Given the description of an element on the screen output the (x, y) to click on. 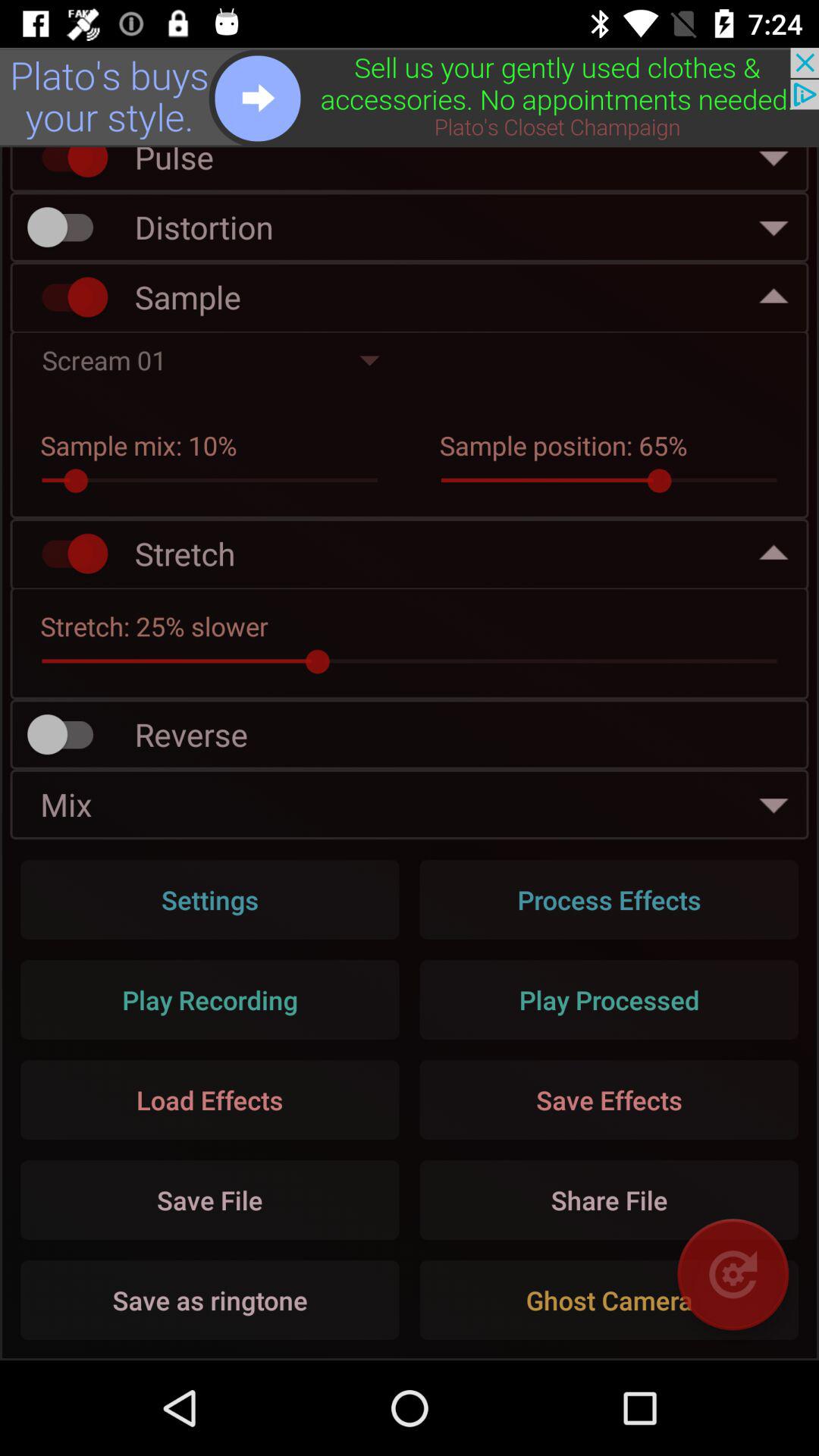
notification of on button (67, 165)
